Given the description of an element on the screen output the (x, y) to click on. 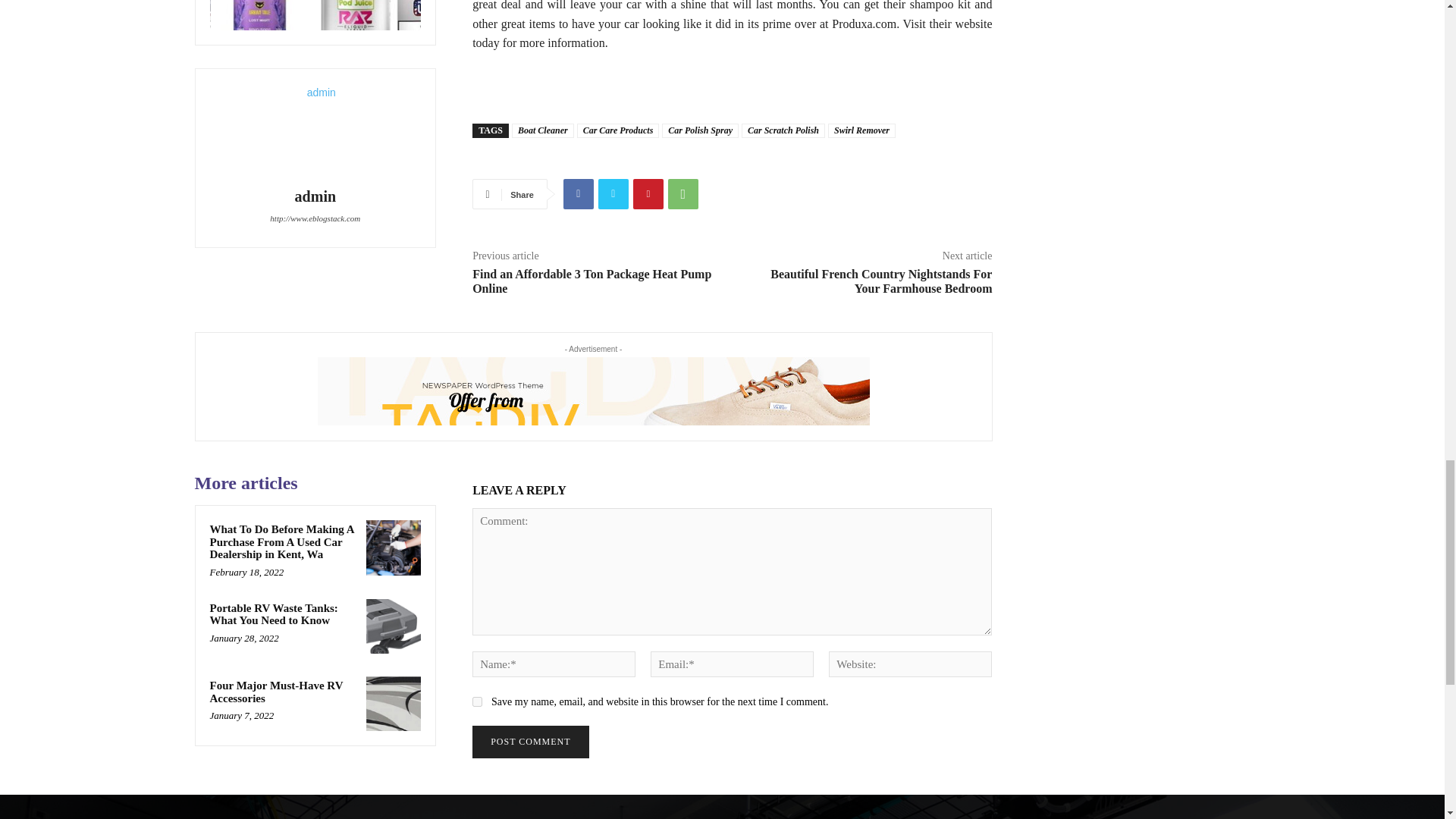
yes (476, 701)
Post Comment (529, 741)
